Given the description of an element on the screen output the (x, y) to click on. 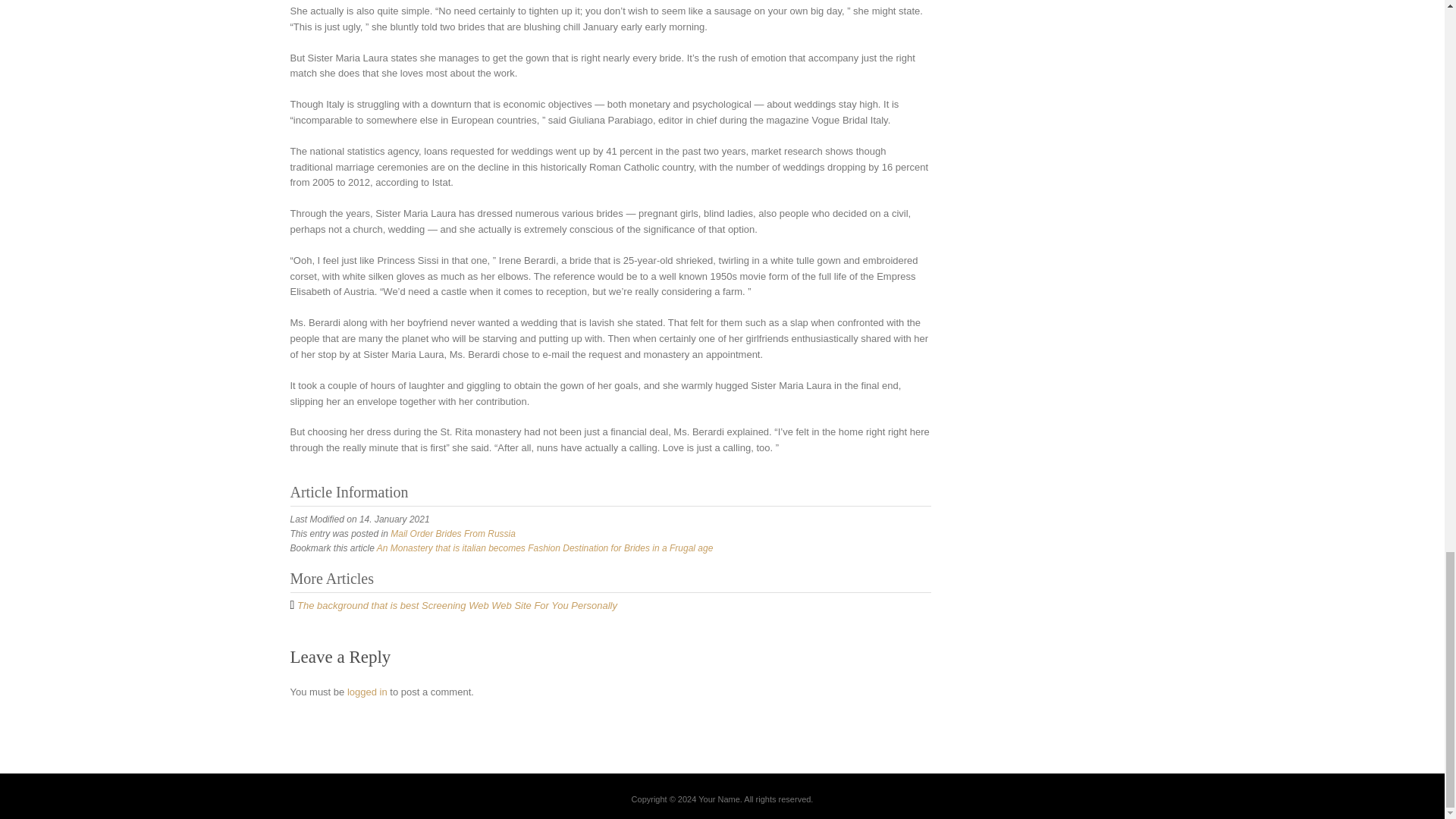
logged in (367, 691)
Mail Order Brides From Russia (452, 533)
